Given the description of an element on the screen output the (x, y) to click on. 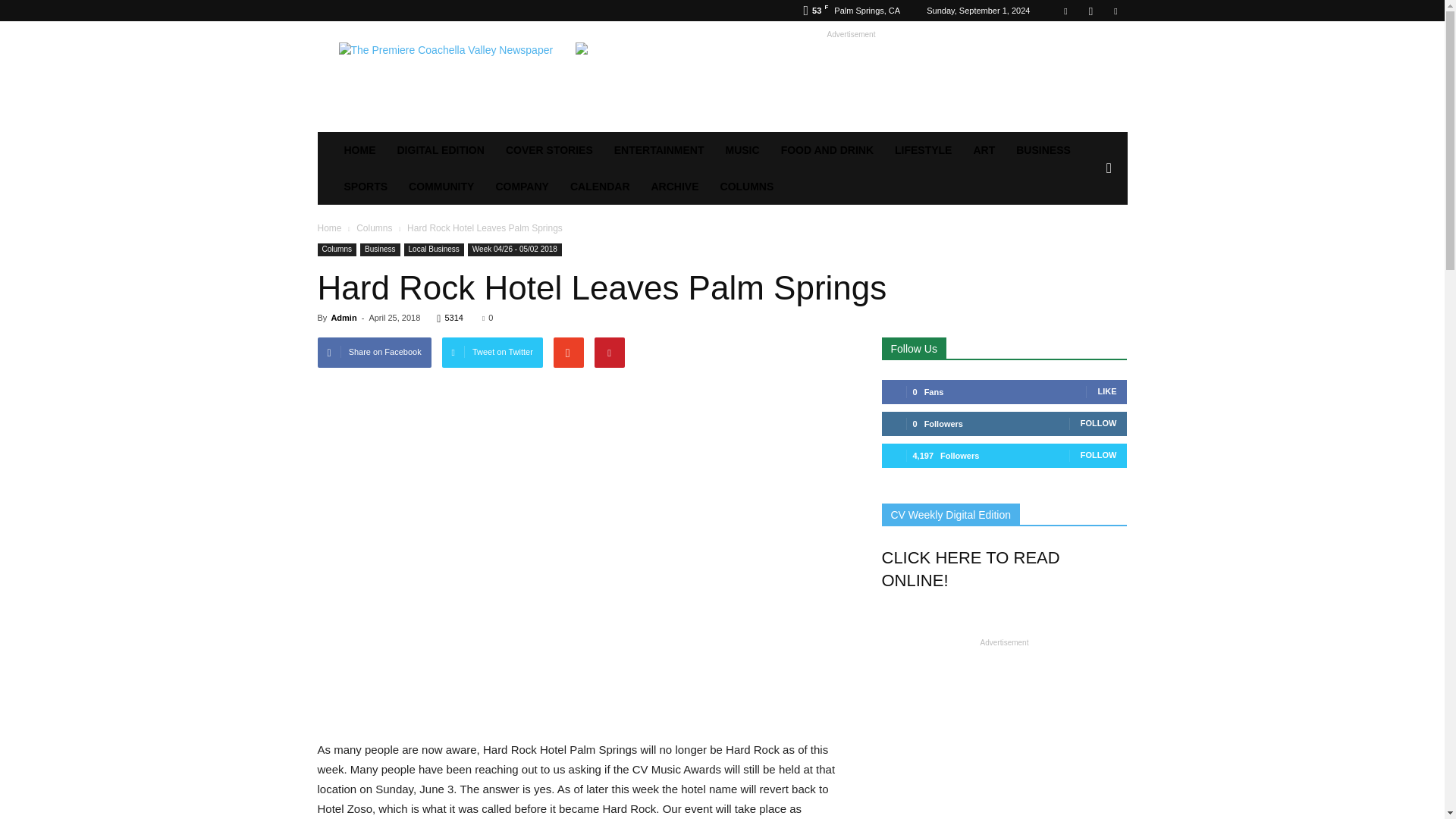
Facebook (1065, 10)
Instagram (1090, 10)
Twitter (1114, 10)
The Premiere Coachella Valley Newspaper (445, 76)
